Given the description of an element on the screen output the (x, y) to click on. 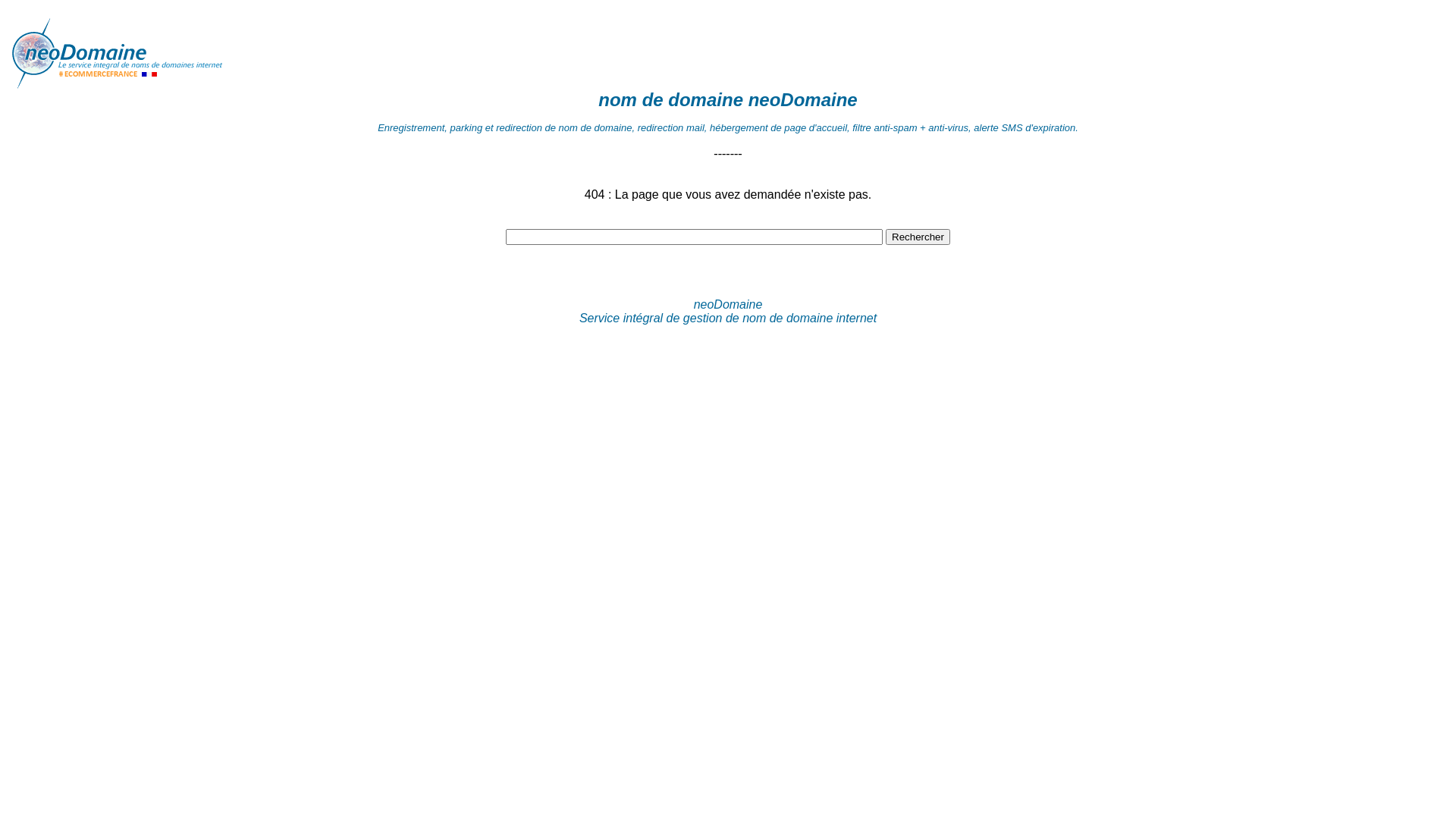
nom de domaine Element type: text (670, 99)
nom de domaine Element type: hover (165, 47)
nom de domaine Element type: hover (165, 84)
nom de domaine Element type: text (787, 317)
Rechercher Element type: text (917, 236)
